Given the description of an element on the screen output the (x, y) to click on. 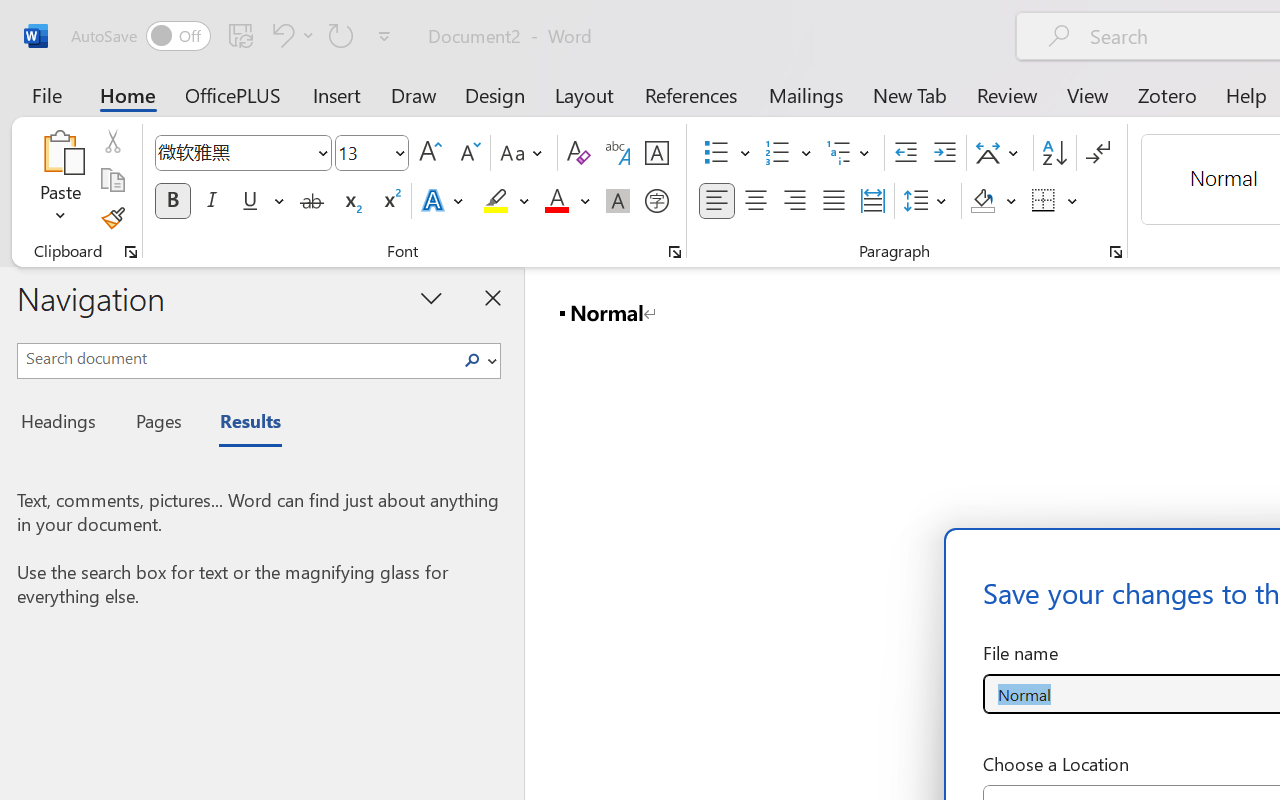
Justify (834, 201)
References (690, 94)
New Tab (909, 94)
Font... (675, 252)
Design (495, 94)
Bold (172, 201)
Distributed (872, 201)
Character Border (656, 153)
Subscript (350, 201)
Undo <ApplyStyleToDoc>b__0 (280, 35)
Format Painter (112, 218)
Draw (413, 94)
Office Clipboard... (131, 252)
